Given the description of an element on the screen output the (x, y) to click on. 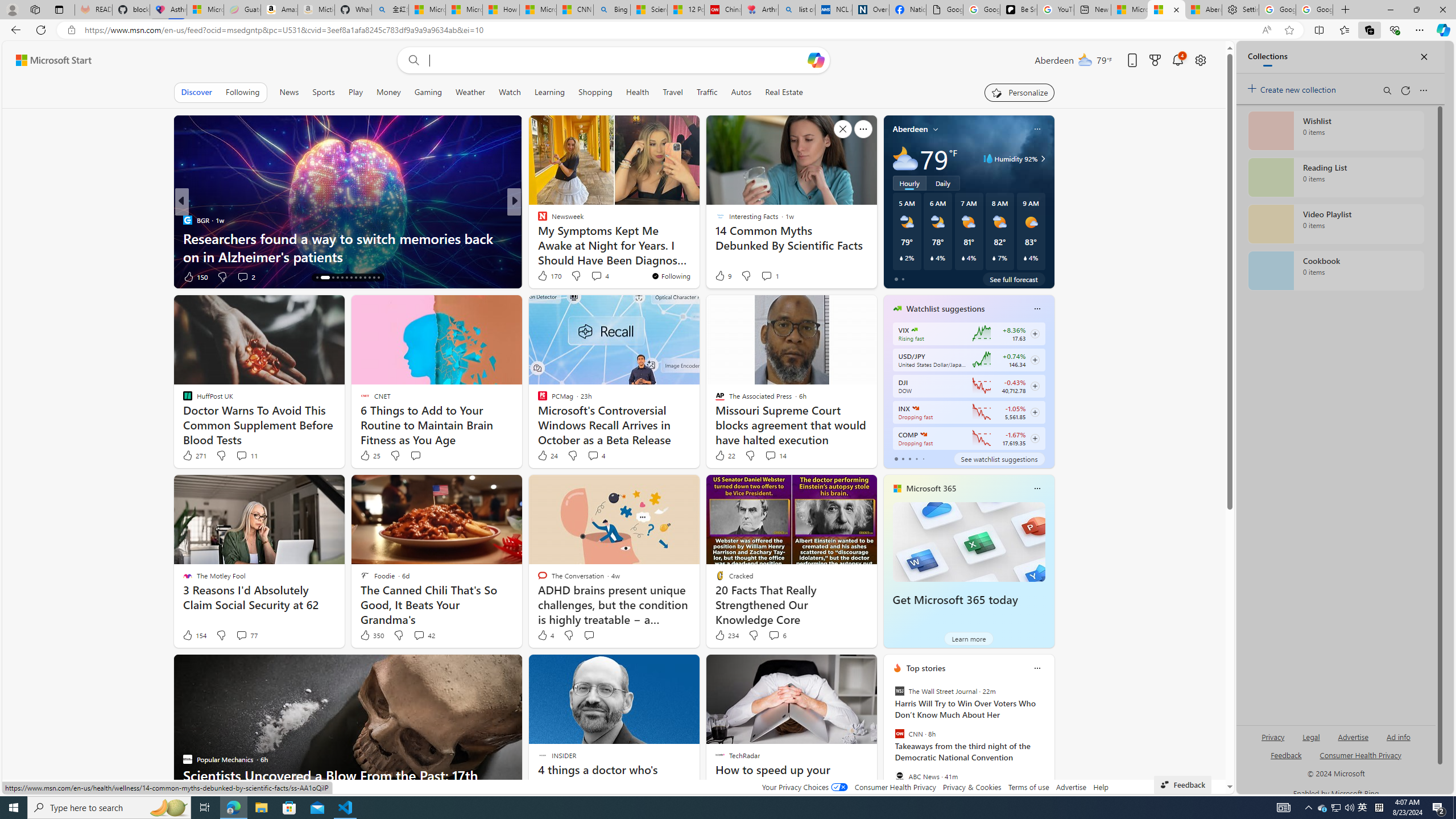
Humidity 92% (1040, 158)
Million Dollar Sense (537, 238)
View comments 231 Comment (595, 276)
Newsweek (537, 219)
3k Like (543, 276)
AutomationID: genId96 (1285, 759)
Class: weather-arrow-glyph (1043, 158)
Google Analytics Opt-out Browser Add-on Download Page (944, 9)
View comments 77 Comment (246, 634)
3 Like (541, 276)
